Given the description of an element on the screen output the (x, y) to click on. 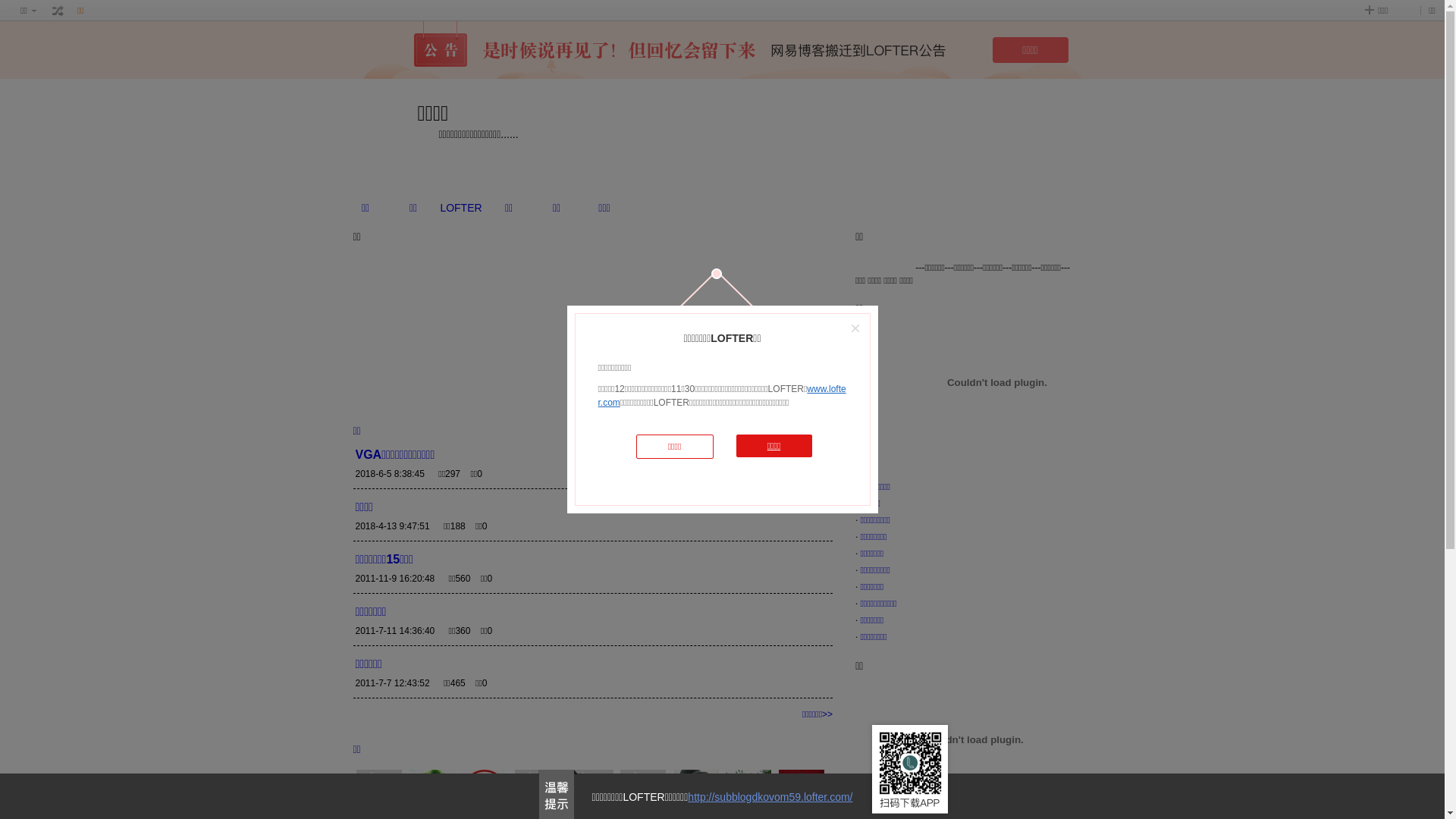
http://subblogdkovom59.lofter.com/ Element type: text (769, 796)
www.lofter.com Element type: text (721, 395)
  Element type: text (58, 10)
LOFTER Element type: text (460, 207)
